Given the description of an element on the screen output the (x, y) to click on. 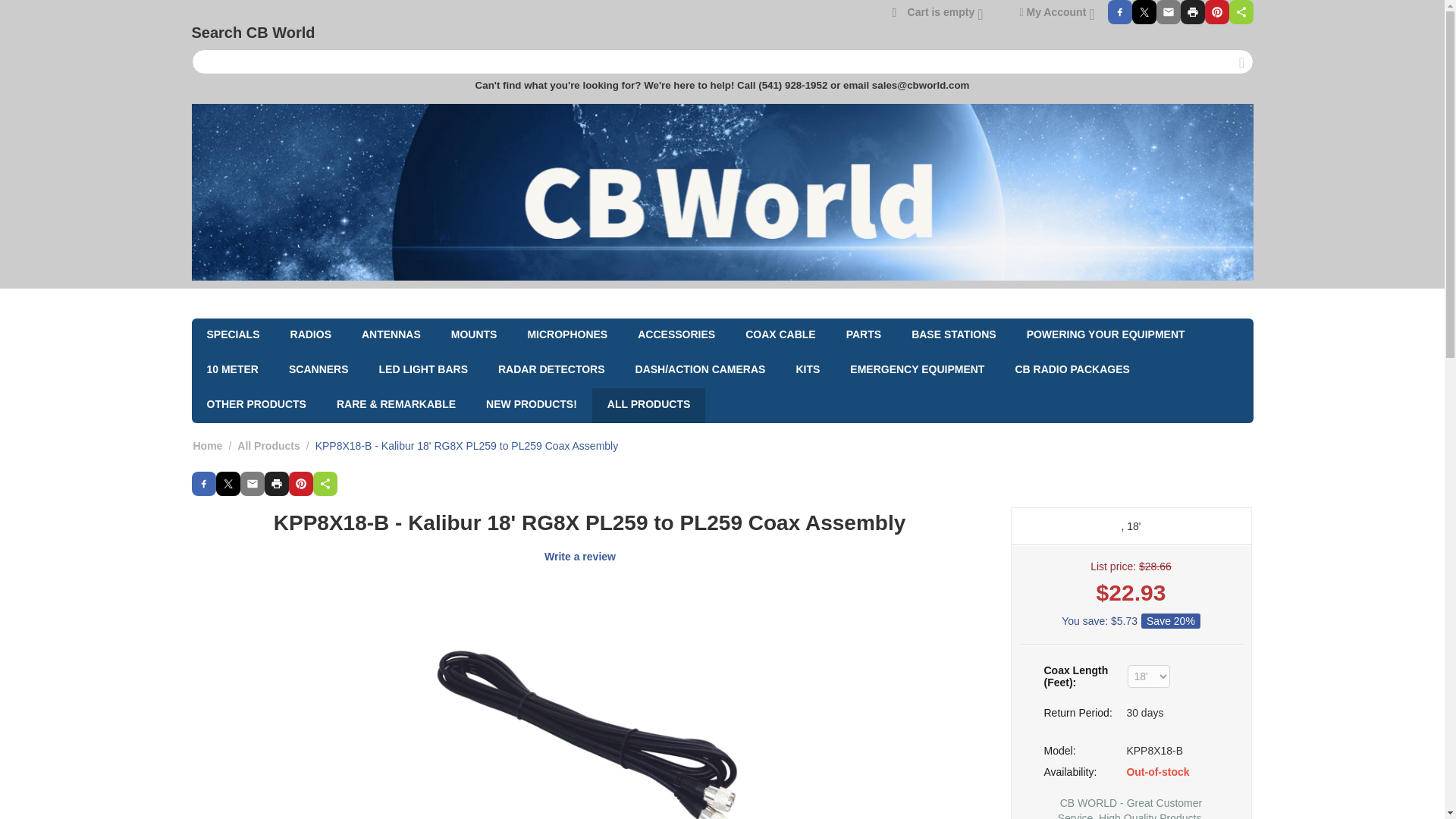
Write a review (579, 556)
 My Account (1055, 11)
SPECIALS (232, 335)
KPP8X18-B - Kalibur 18' RG8X PL259 to PL259 Coax Assembly (589, 702)
ANTENNAS (390, 335)
Cart is empty (938, 11)
RADIOS (310, 335)
Search (1241, 62)
Search products (721, 61)
